Given the description of an element on the screen output the (x, y) to click on. 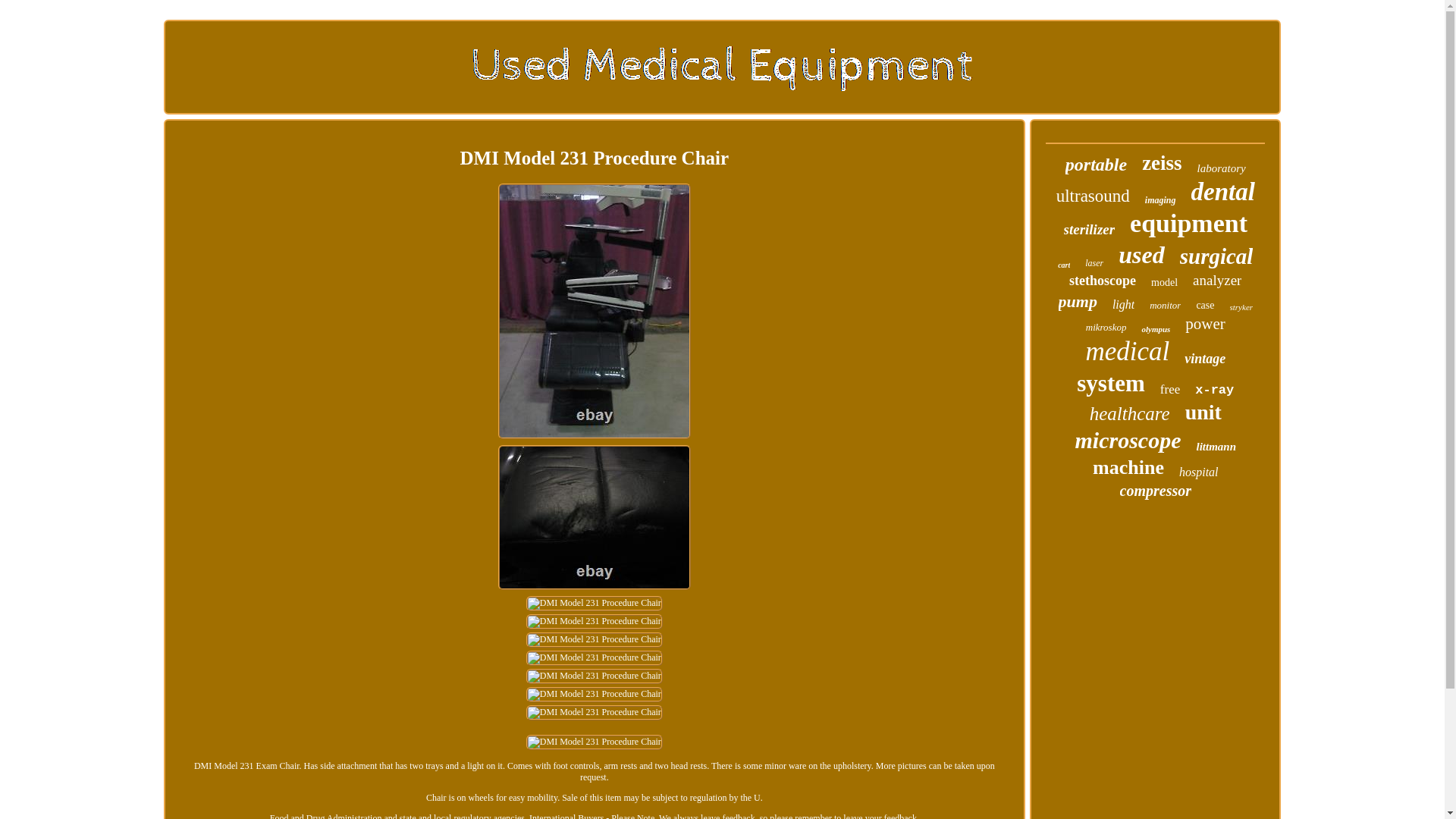
dental (1223, 192)
stethoscope (1101, 280)
light (1123, 305)
surgical (1216, 256)
equipment (1188, 223)
ultrasound (1093, 196)
model (1164, 282)
DMI Model 231 Procedure Chair (593, 694)
DMI Model 231 Procedure Chair (593, 516)
DMI Model 231 Procedure Chair (593, 639)
